Given the description of an element on the screen output the (x, y) to click on. 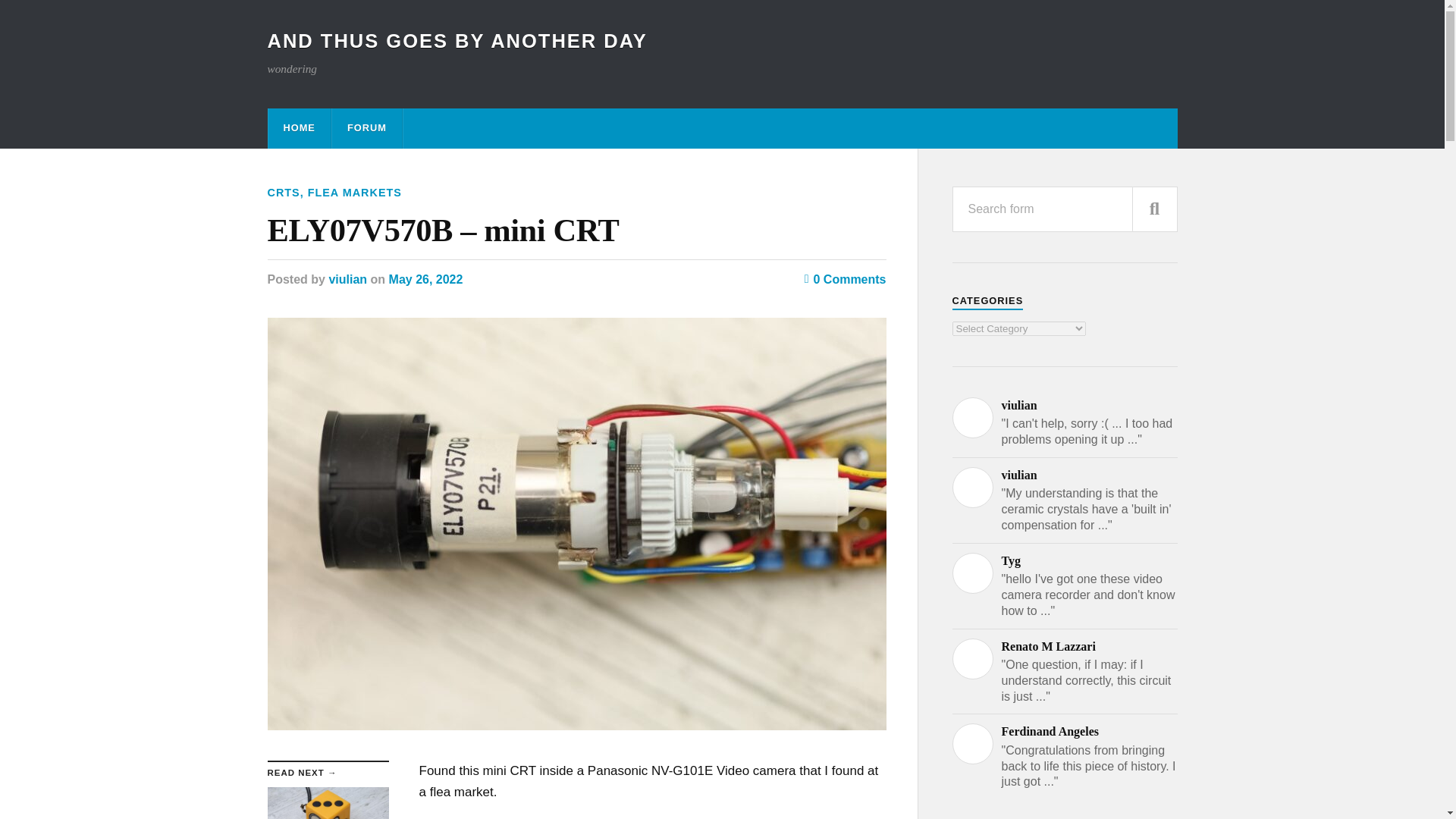
viulian (347, 278)
AND THUS GOES BY ANOTHER DAY (456, 40)
0 Comments (845, 278)
CRTS (282, 192)
FLEA MARKETS (354, 192)
HOME (298, 128)
May 26, 2022 (425, 278)
FORUM (366, 128)
